Given the description of an element on the screen output the (x, y) to click on. 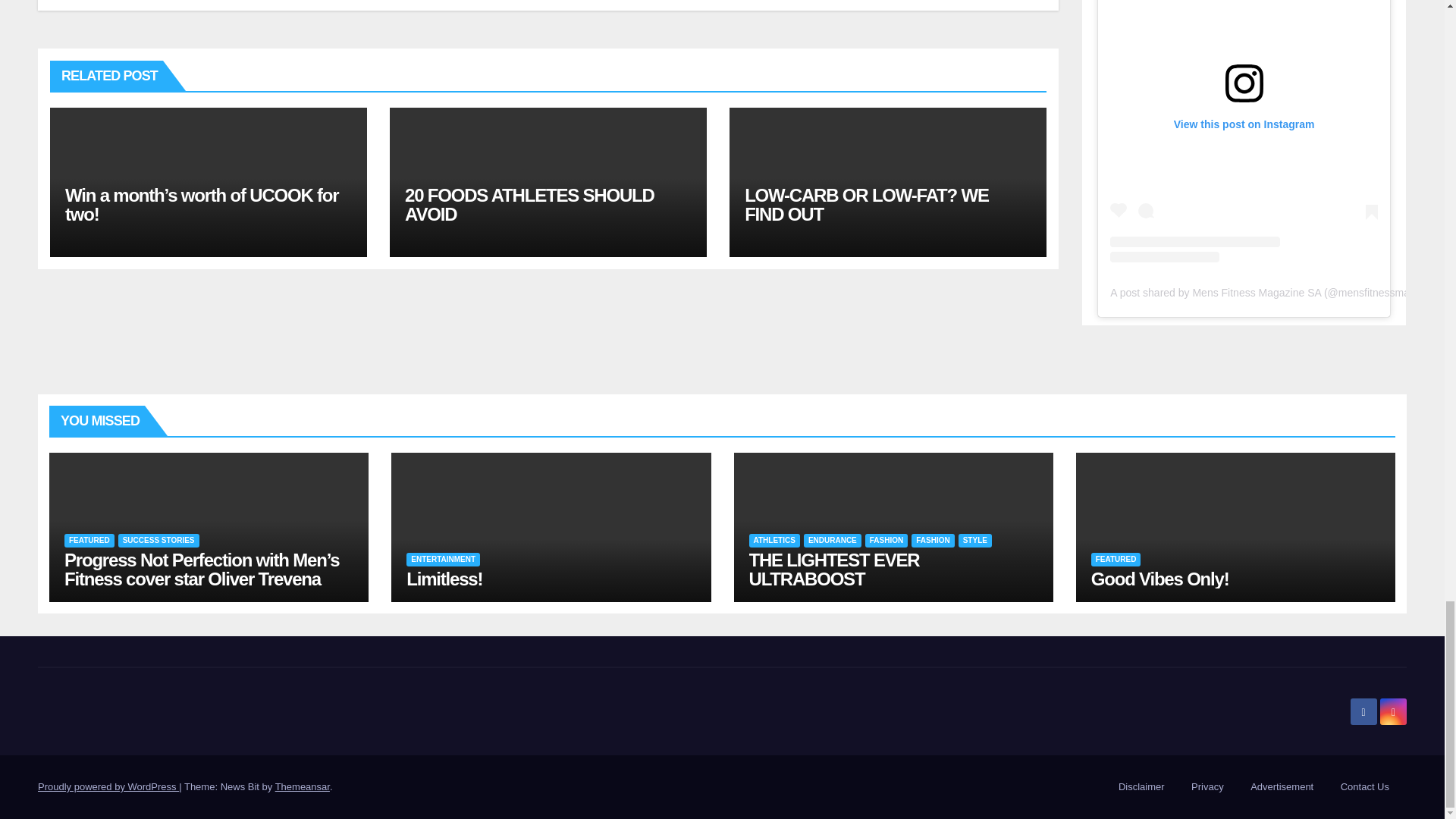
Permalink to: THE LIGHTEST EVER ULTRABOOST (834, 568)
Permalink to: LOW-CARB OR LOW-FAT? WE FIND OUT (866, 204)
Permalink to: 20 FOODS ATHLETES SHOULD AVOID (528, 204)
Permalink to: Limitless! (443, 578)
